Given the description of an element on the screen output the (x, y) to click on. 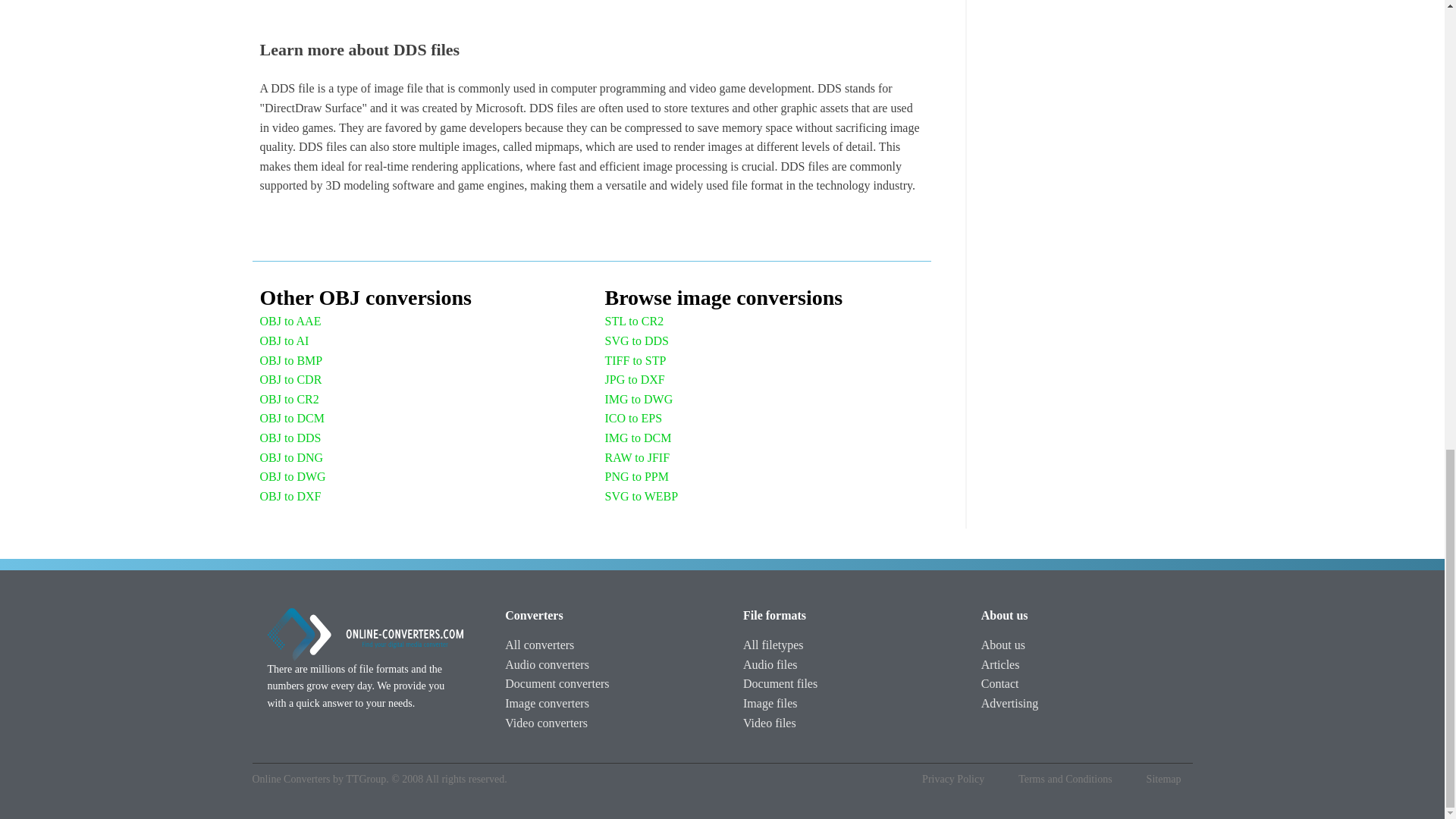
SVG to WEBP (641, 496)
STL to CR2 (634, 321)
ICO to EPS (633, 418)
JPG to DXF (635, 379)
OBJ to DWG (291, 476)
OBJ to DXF (289, 496)
TIFF to STP (635, 361)
SVG to DDS (636, 341)
OBJ to DNG (291, 457)
OBJ to AI (283, 341)
